Given the description of an element on the screen output the (x, y) to click on. 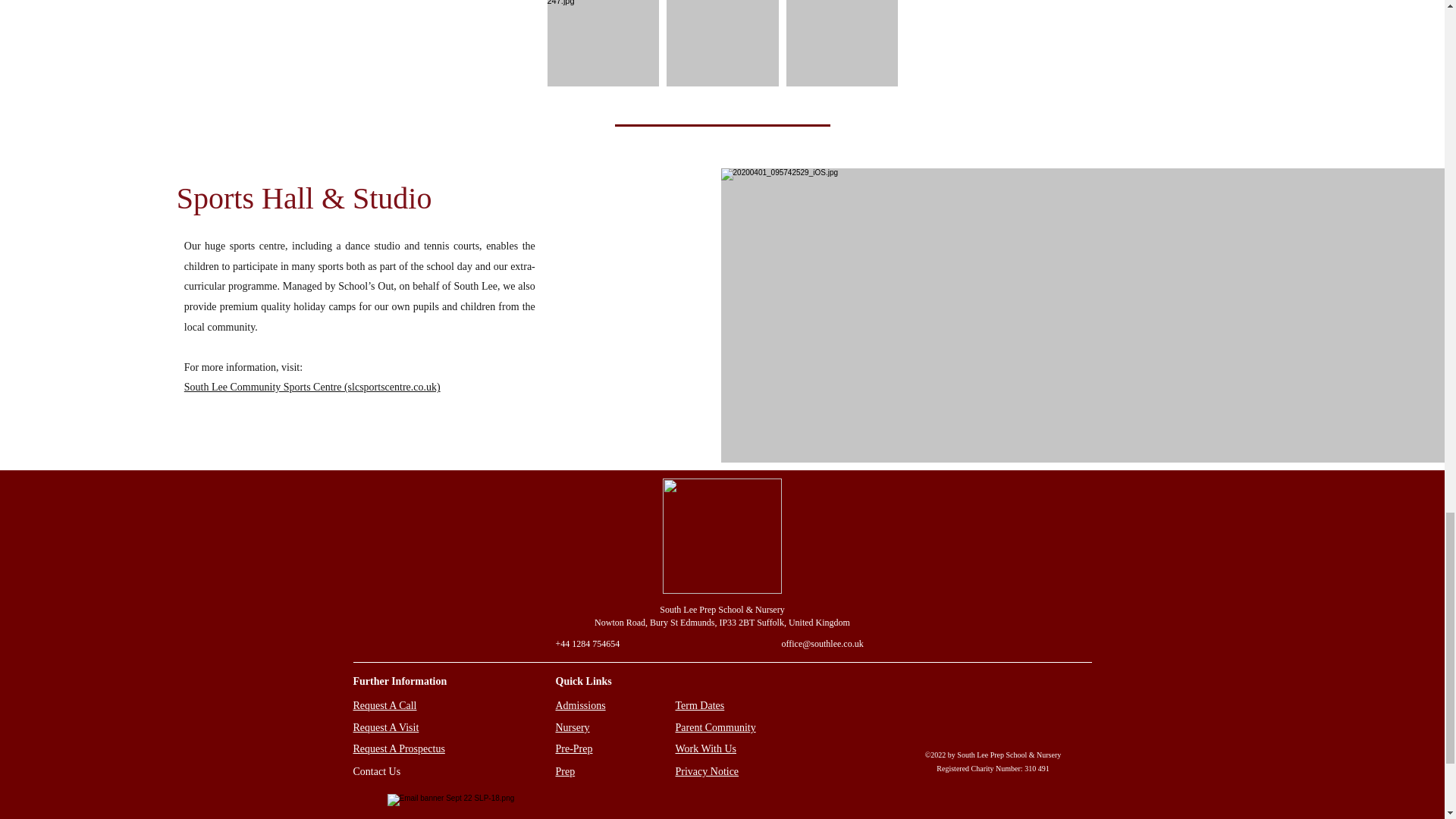
Request A Call (384, 705)
